Given the description of an element on the screen output the (x, y) to click on. 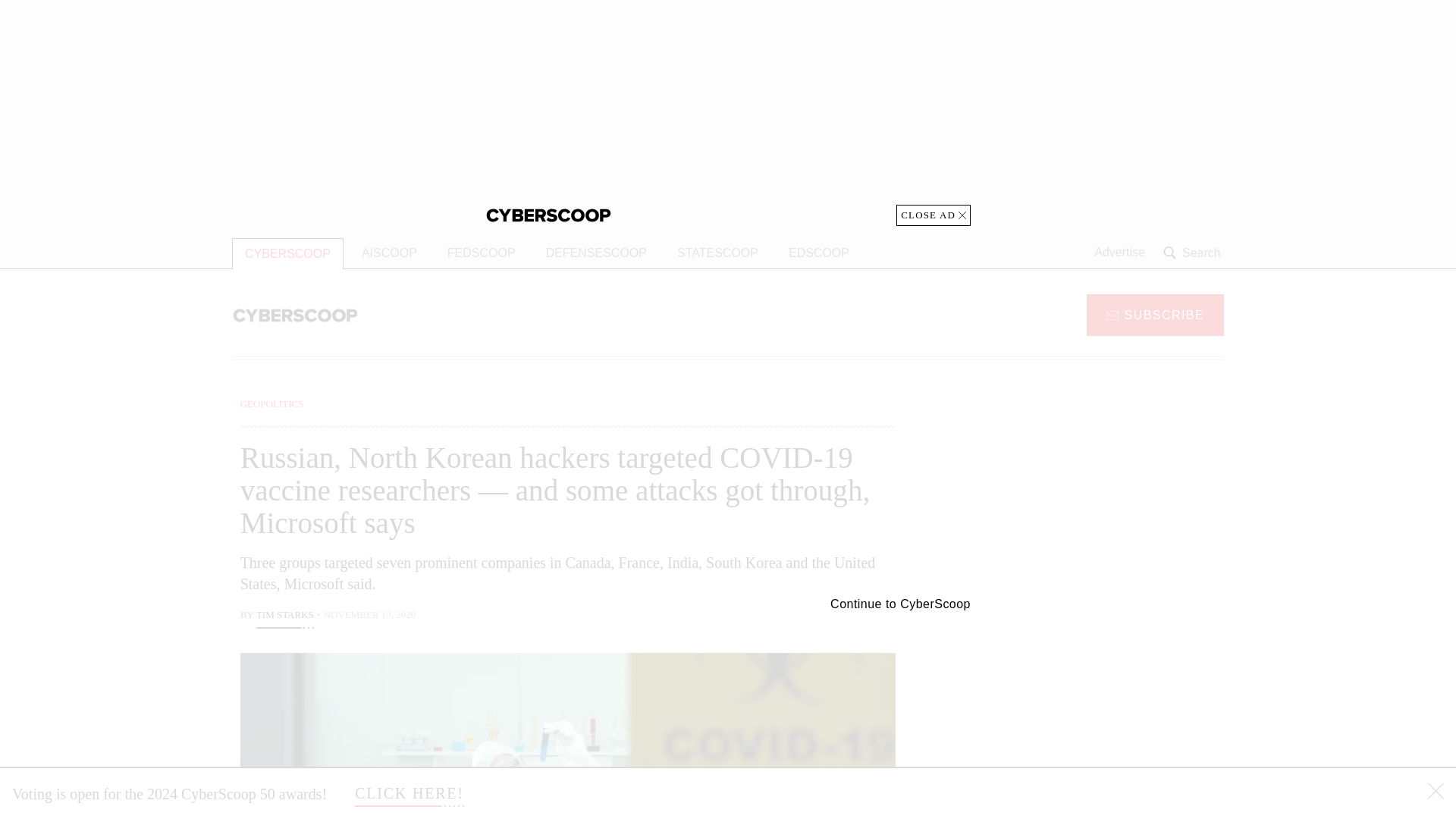
3rd party ad content (1101, 705)
DEFENSESCOOP (596, 253)
Tim Starks (285, 616)
3rd party ad content (1101, 491)
FEDSCOOP (481, 253)
SUBSCRIBE (1155, 314)
Search (1193, 252)
